Given the description of an element on the screen output the (x, y) to click on. 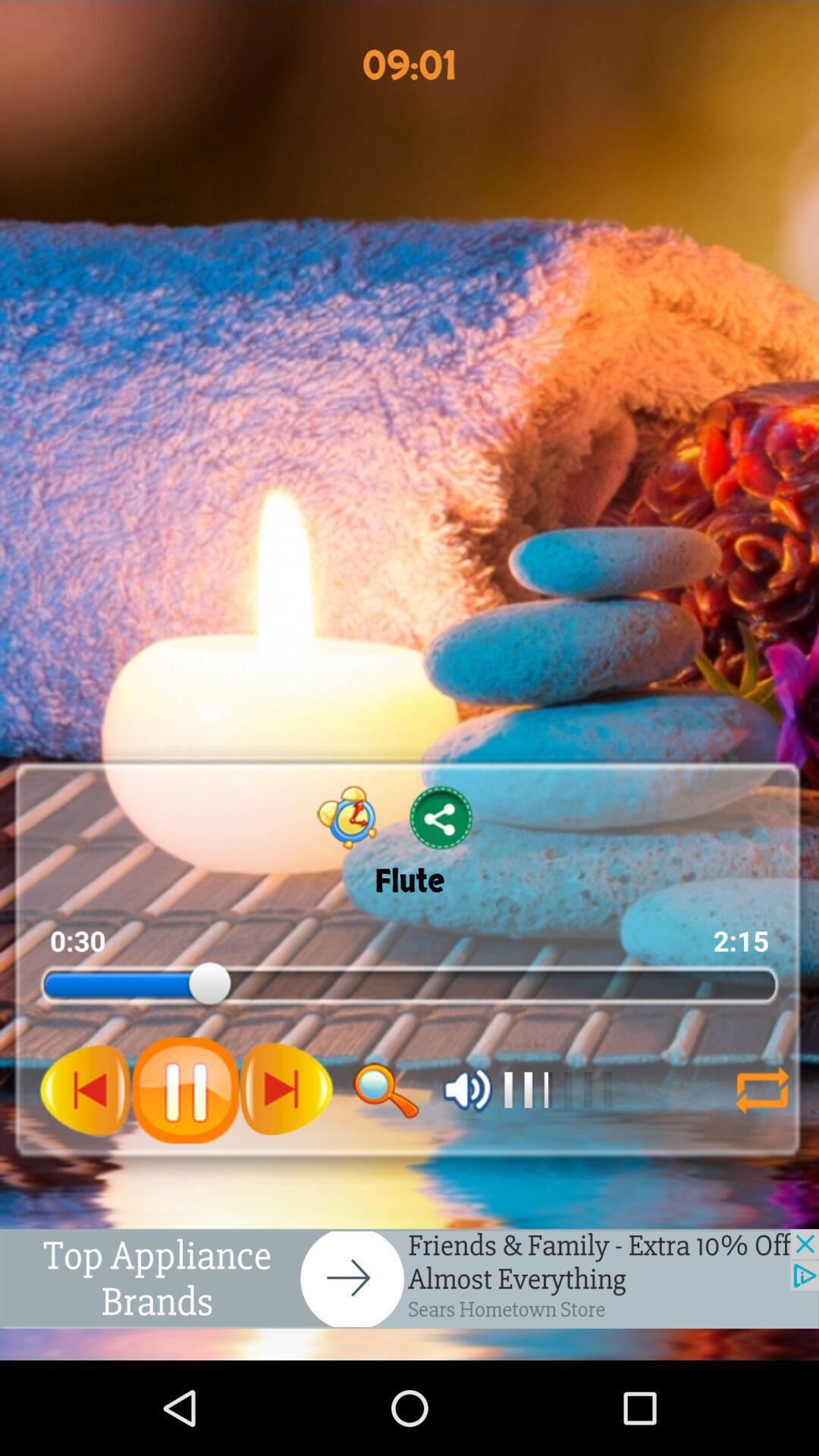
open advertisement (409, 1278)
